Given the description of an element on the screen output the (x, y) to click on. 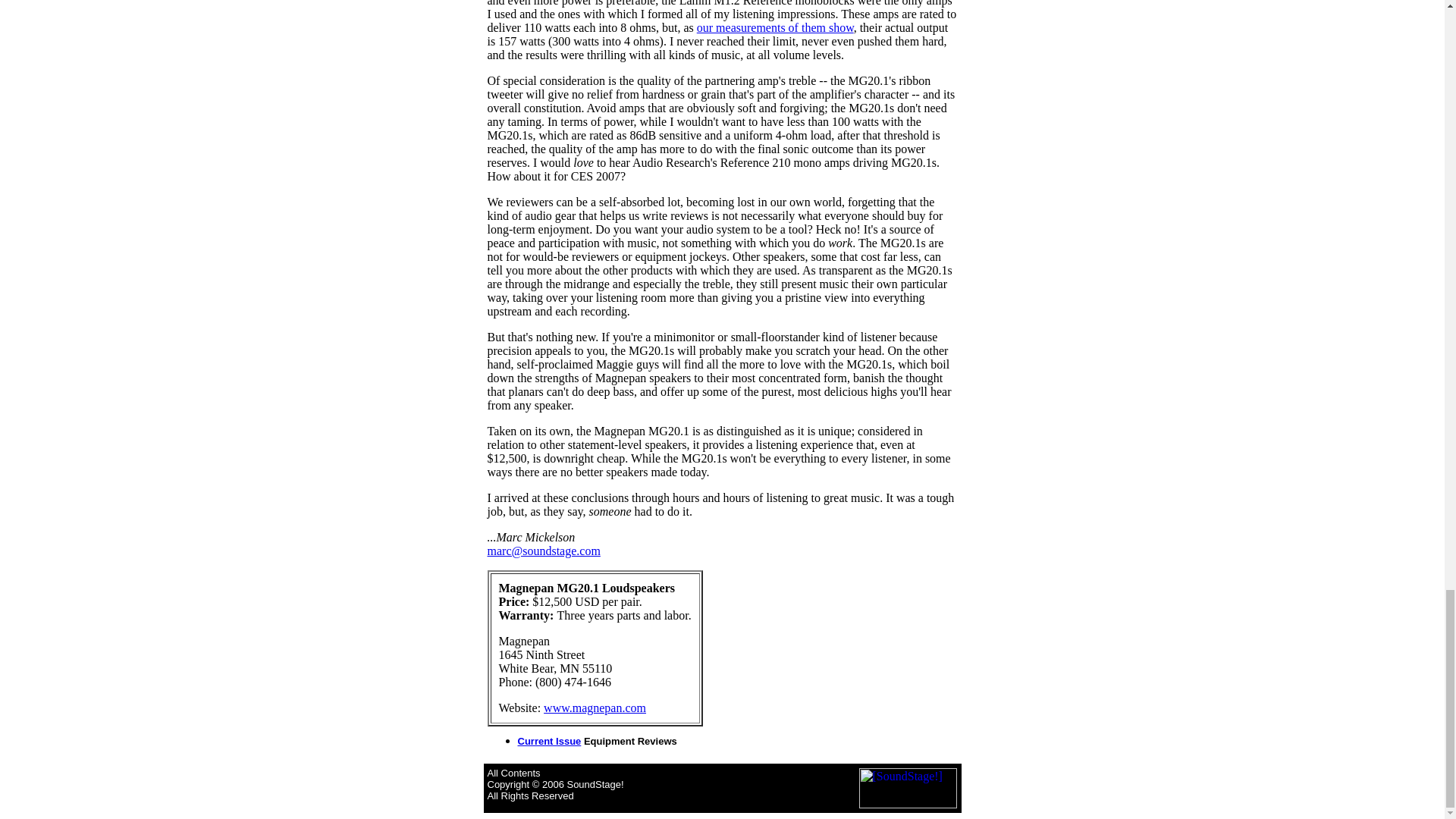
www.magnepan.com (594, 707)
our measurements of them show (775, 27)
Current Issue (548, 740)
